Given the description of an element on the screen output the (x, y) to click on. 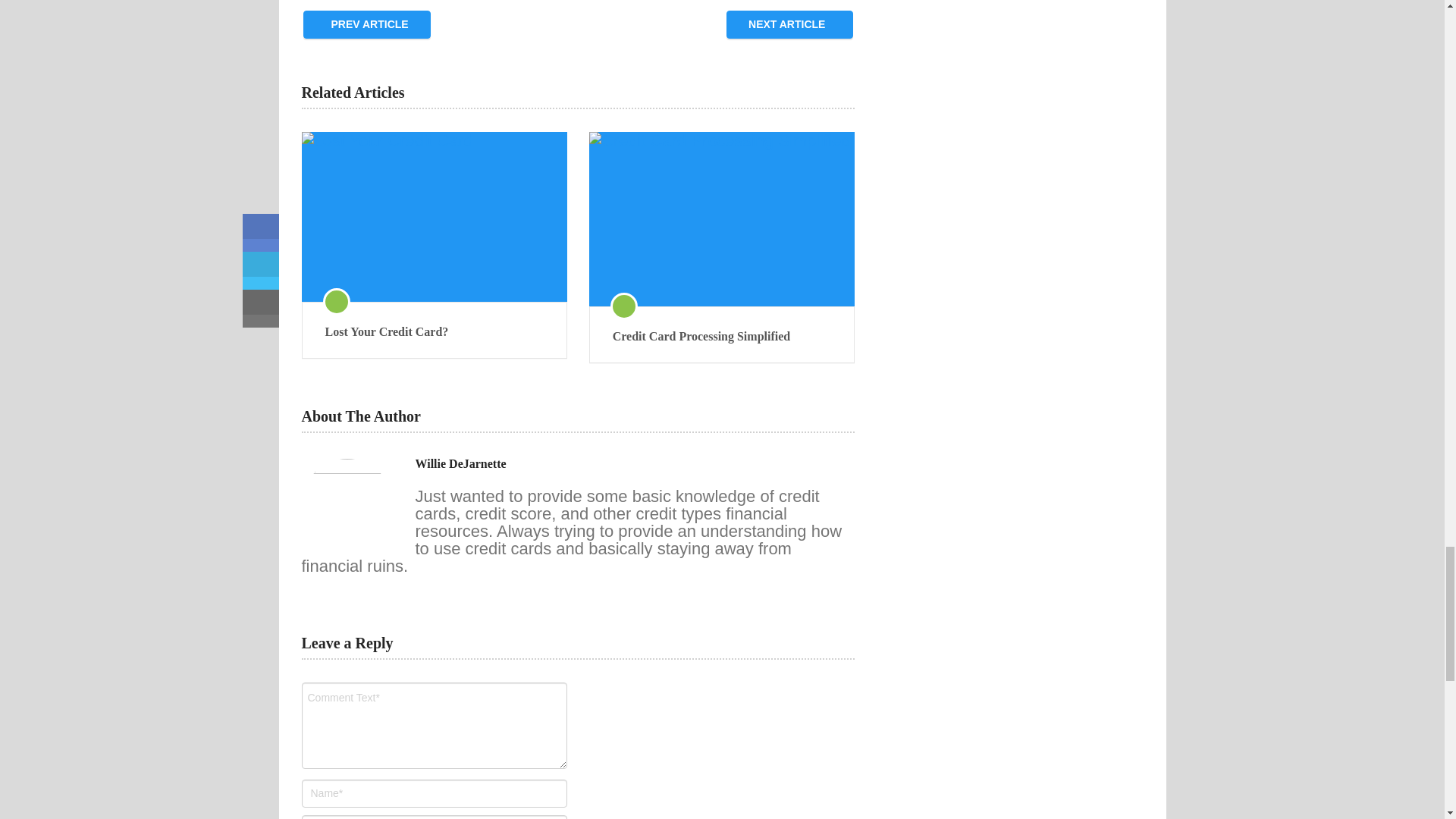
Lost Your Credit Card? (434, 216)
NEXT ARTICLE (789, 24)
Lost Your Credit Card? (433, 331)
Credit Card Processing Simplified (721, 218)
Credit Card Processing Simplified (721, 336)
PREV ARTICLE (366, 24)
Credit Card Processing Simplified (721, 336)
Lost Your Credit Card? (433, 331)
Willie DeJarnette (460, 463)
